Given the description of an element on the screen output the (x, y) to click on. 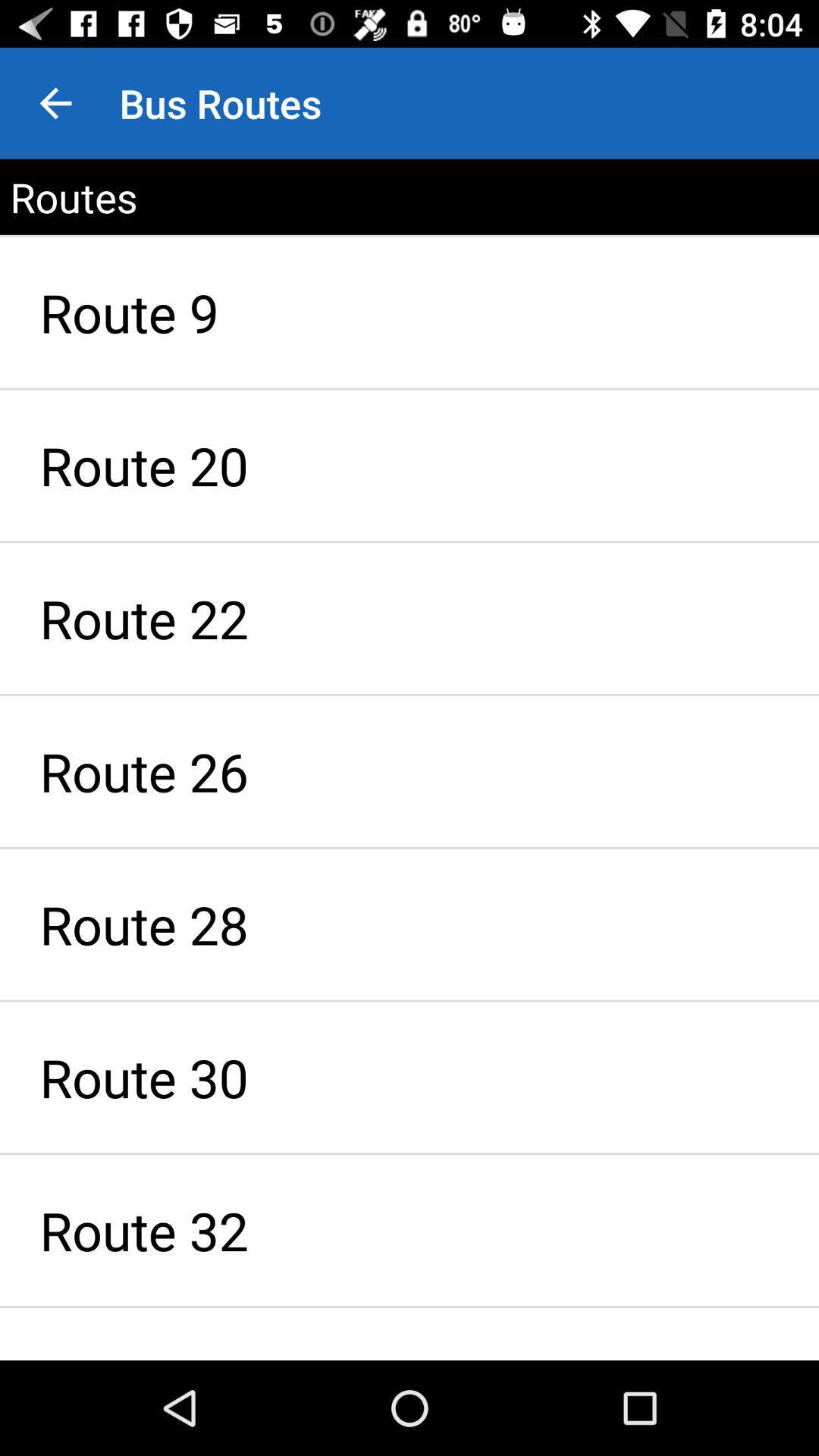
press item above route 22 icon (409, 465)
